Given the description of an element on the screen output the (x, y) to click on. 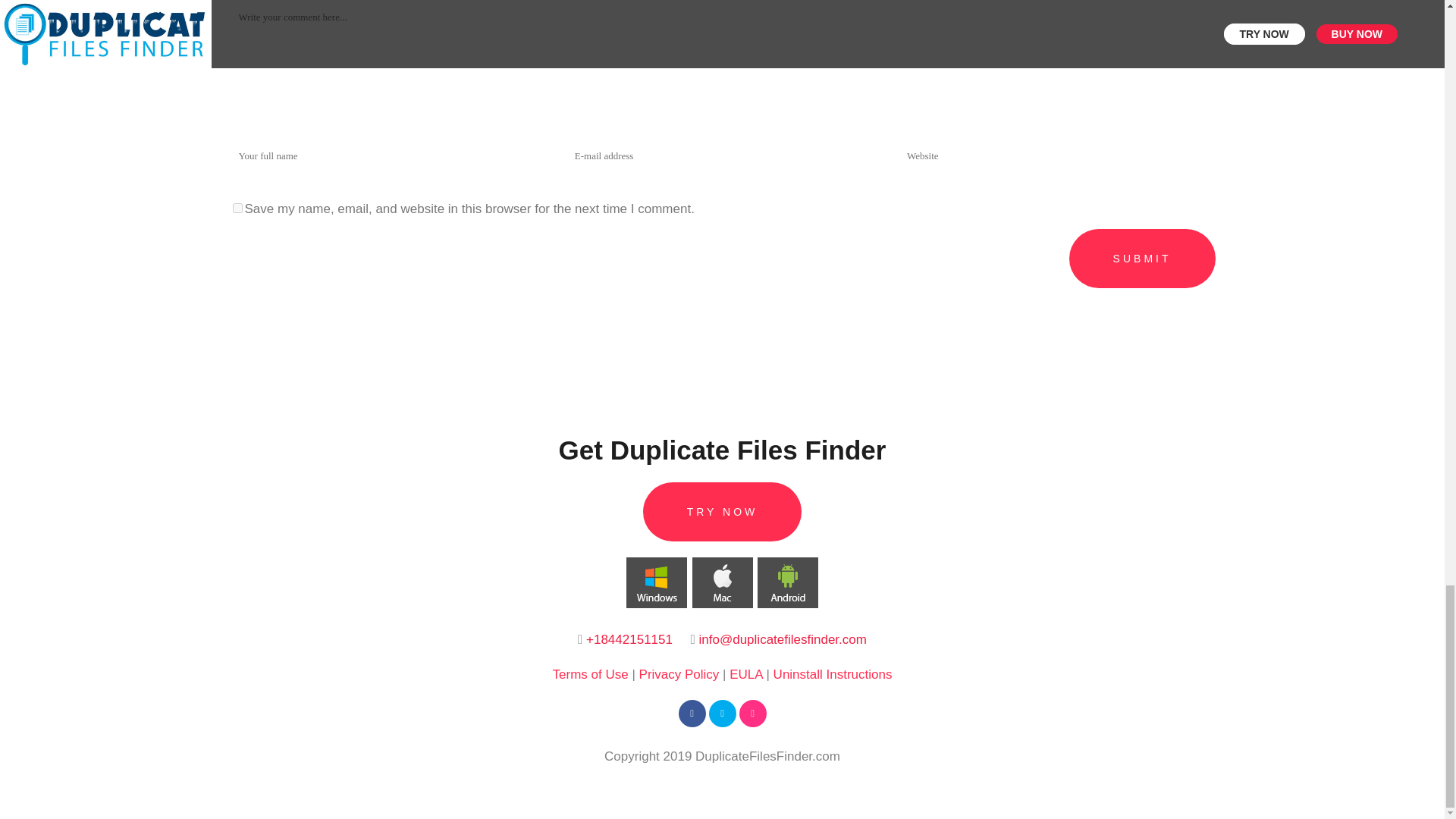
yes (236, 207)
Submit (1141, 258)
Submit (1141, 258)
